Given the description of an element on the screen output the (x, y) to click on. 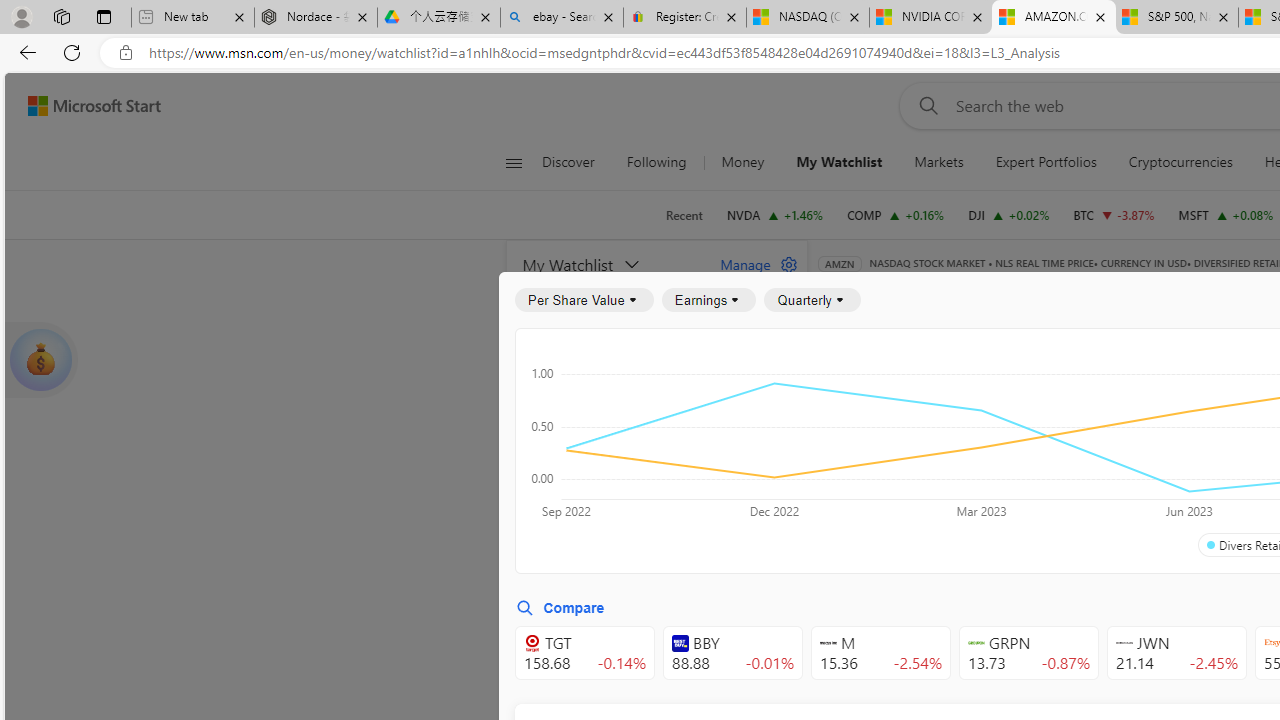
Watchlist (1152, 291)
Cryptocurrencies (1180, 162)
Key Ratios (867, 391)
Microsoft Start (94, 105)
